Given the description of an element on the screen output the (x, y) to click on. 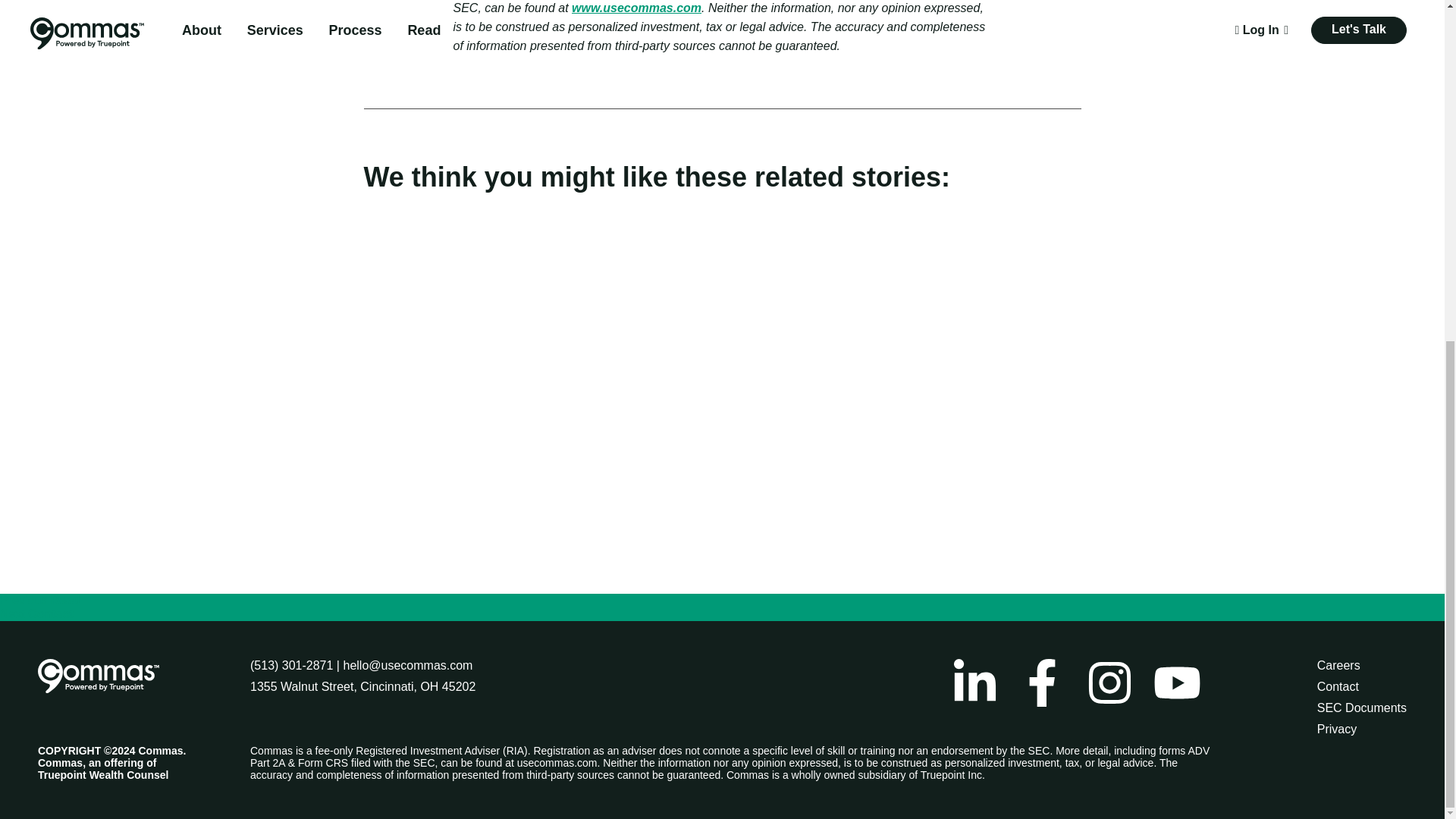
Contact (1337, 686)
Previous Read (40, 599)
www.usecommas.com (636, 7)
SEC Documents (1361, 707)
Facebook (1041, 682)
Next Contact (37, 613)
YouTube (1177, 682)
Privacy (1336, 728)
LinkedIn (974, 682)
Truepoint Wealth Counsel (102, 775)
Careers (1338, 665)
Instagram (1110, 682)
